Given the description of an element on the screen output the (x, y) to click on. 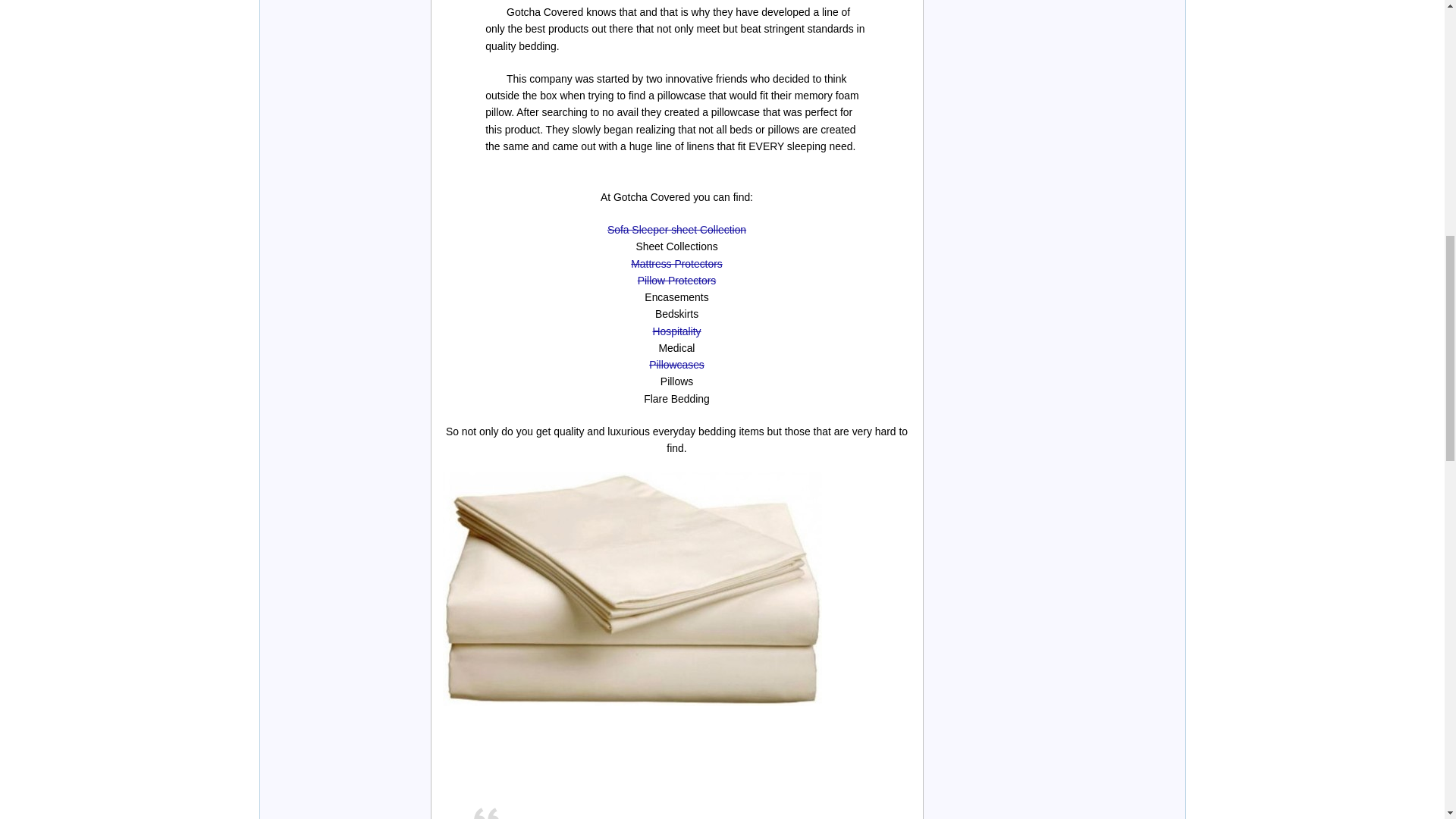
Mattress Protectors (676, 263)
Sofa Sleeper sheet Collection (676, 229)
